Given the description of an element on the screen output the (x, y) to click on. 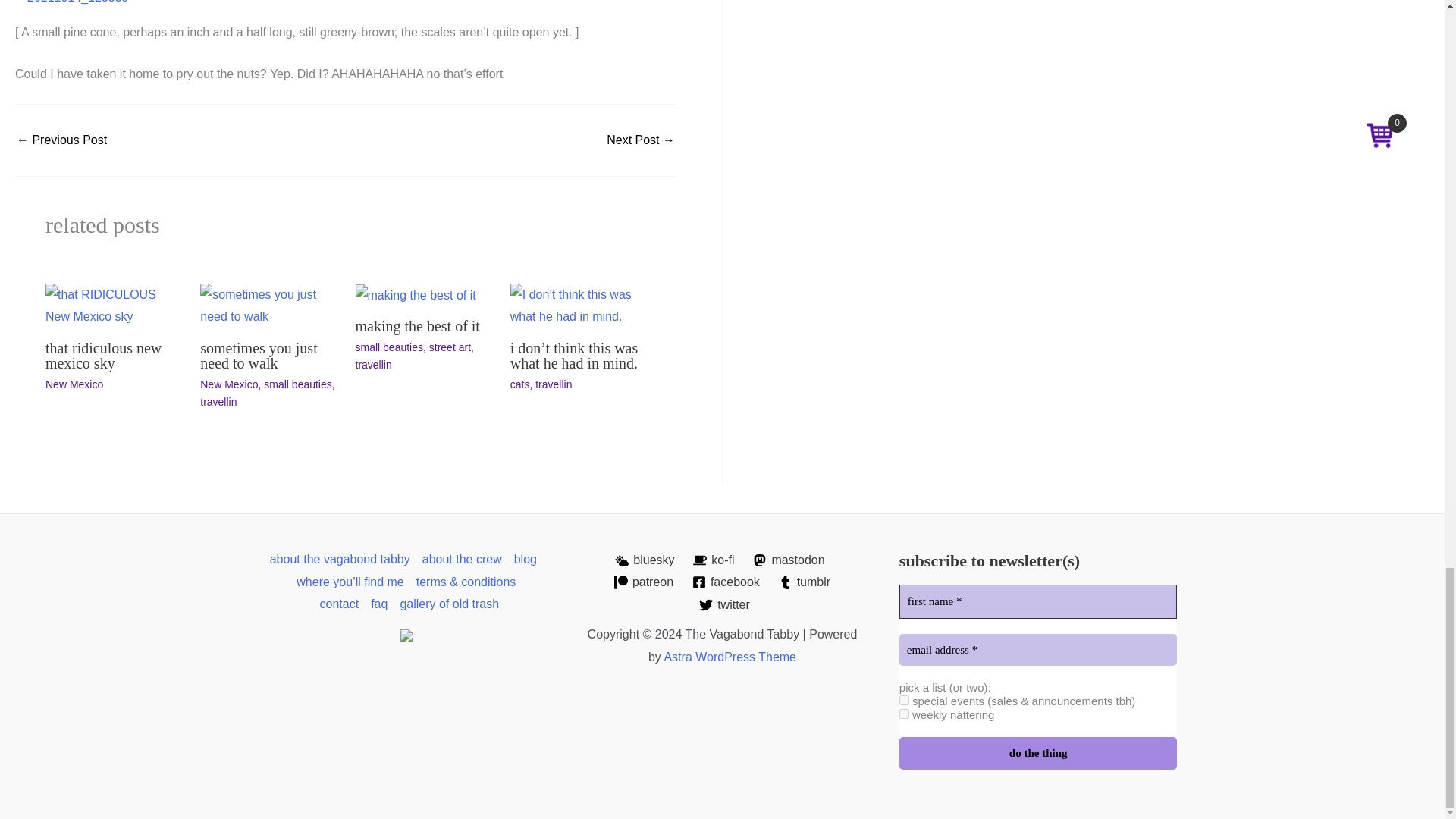
3 (903, 700)
first name (1038, 601)
cats: back yard wander edition (641, 140)
6 (903, 714)
email address (1038, 649)
do the thing (1038, 753)
cats: meanwhile, back at the ranch edition (61, 140)
